Given the description of an element on the screen output the (x, y) to click on. 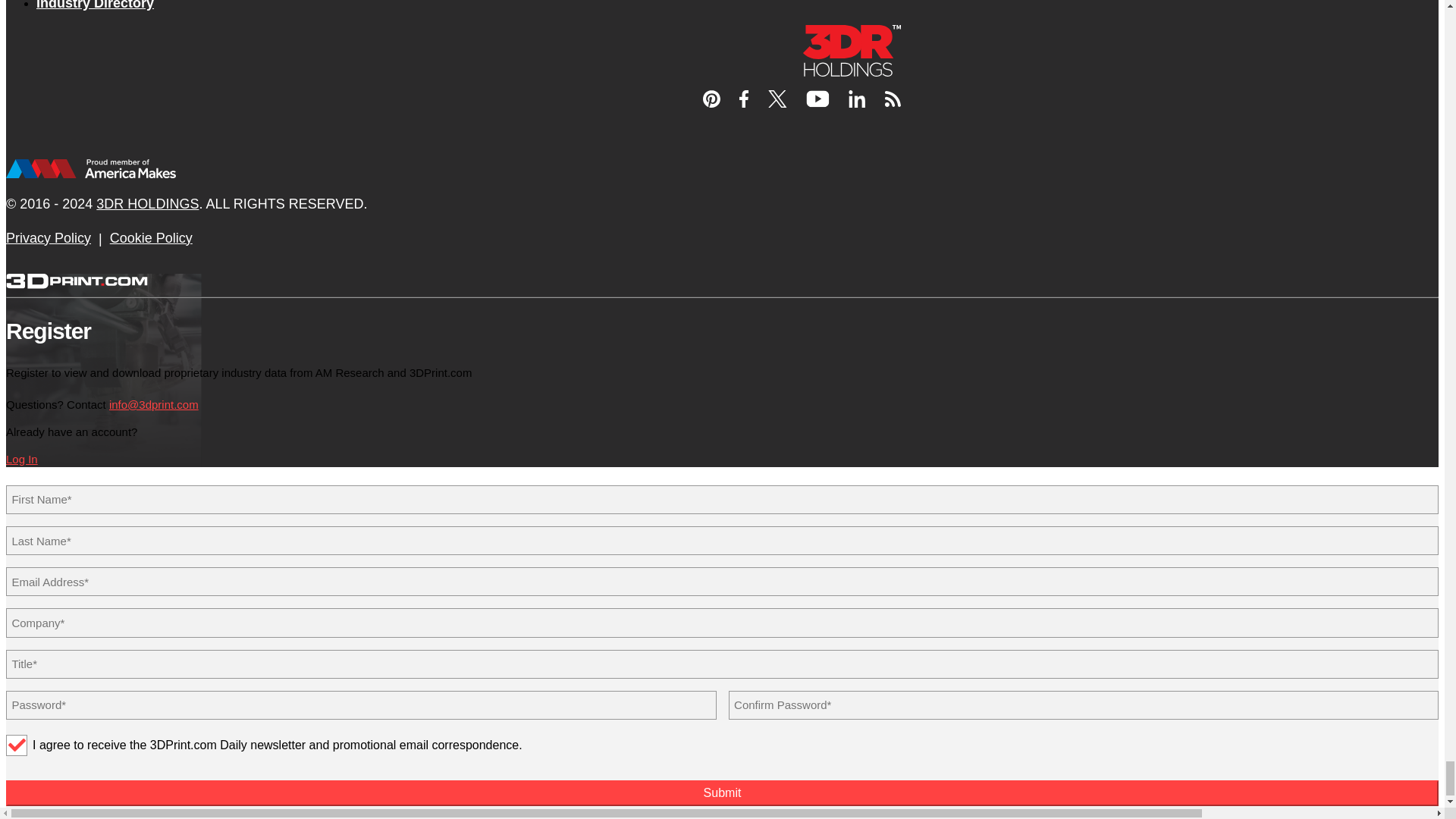
Submit (721, 792)
